Given the description of an element on the screen output the (x, y) to click on. 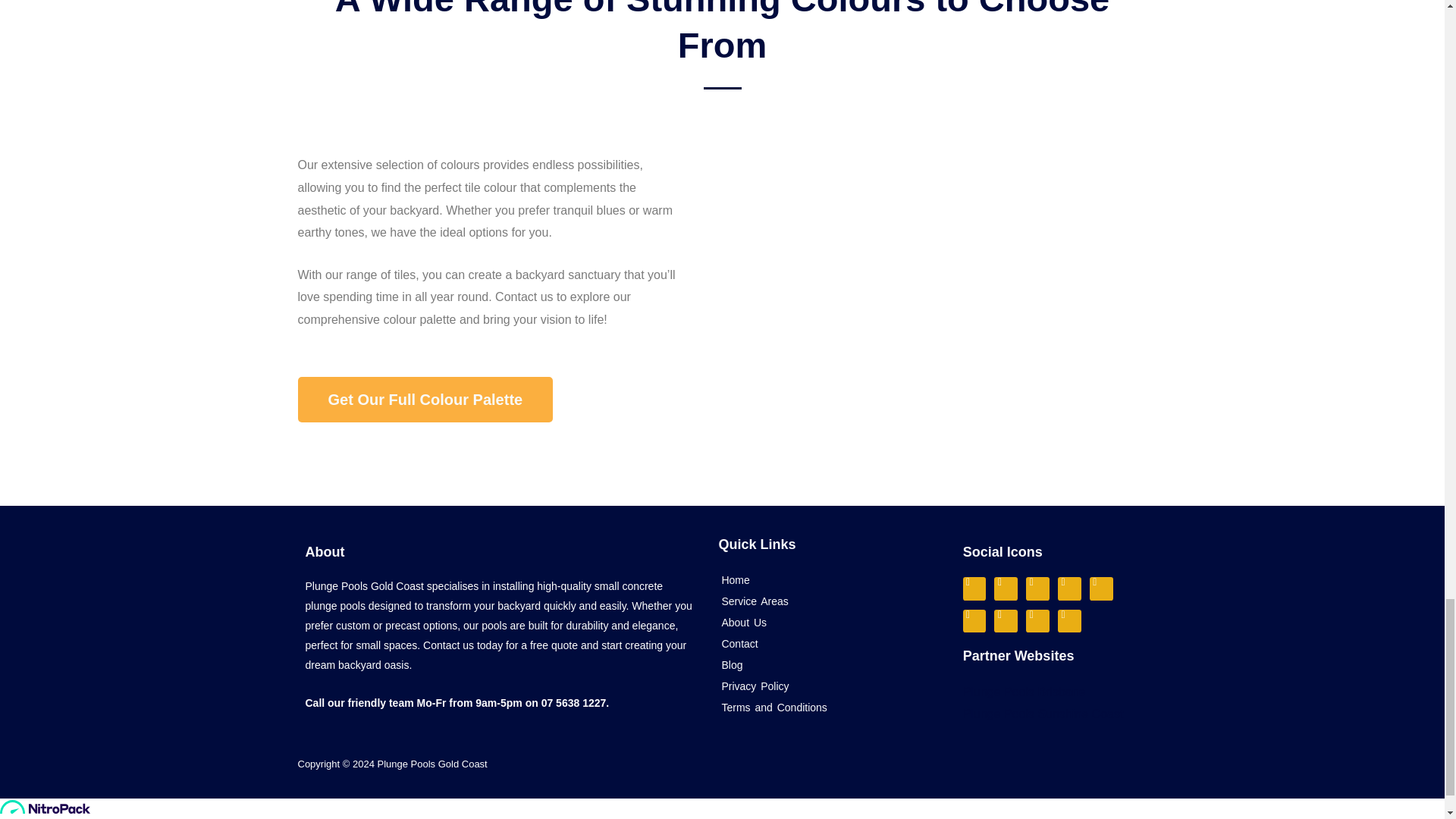
Service Areas (828, 600)
Get Our Full Colour Palette (425, 399)
Terms and Conditions (828, 707)
Home (828, 579)
Privacy Policy (828, 685)
Blog (828, 664)
About Us (828, 622)
Contact (828, 643)
